Given the description of an element on the screen output the (x, y) to click on. 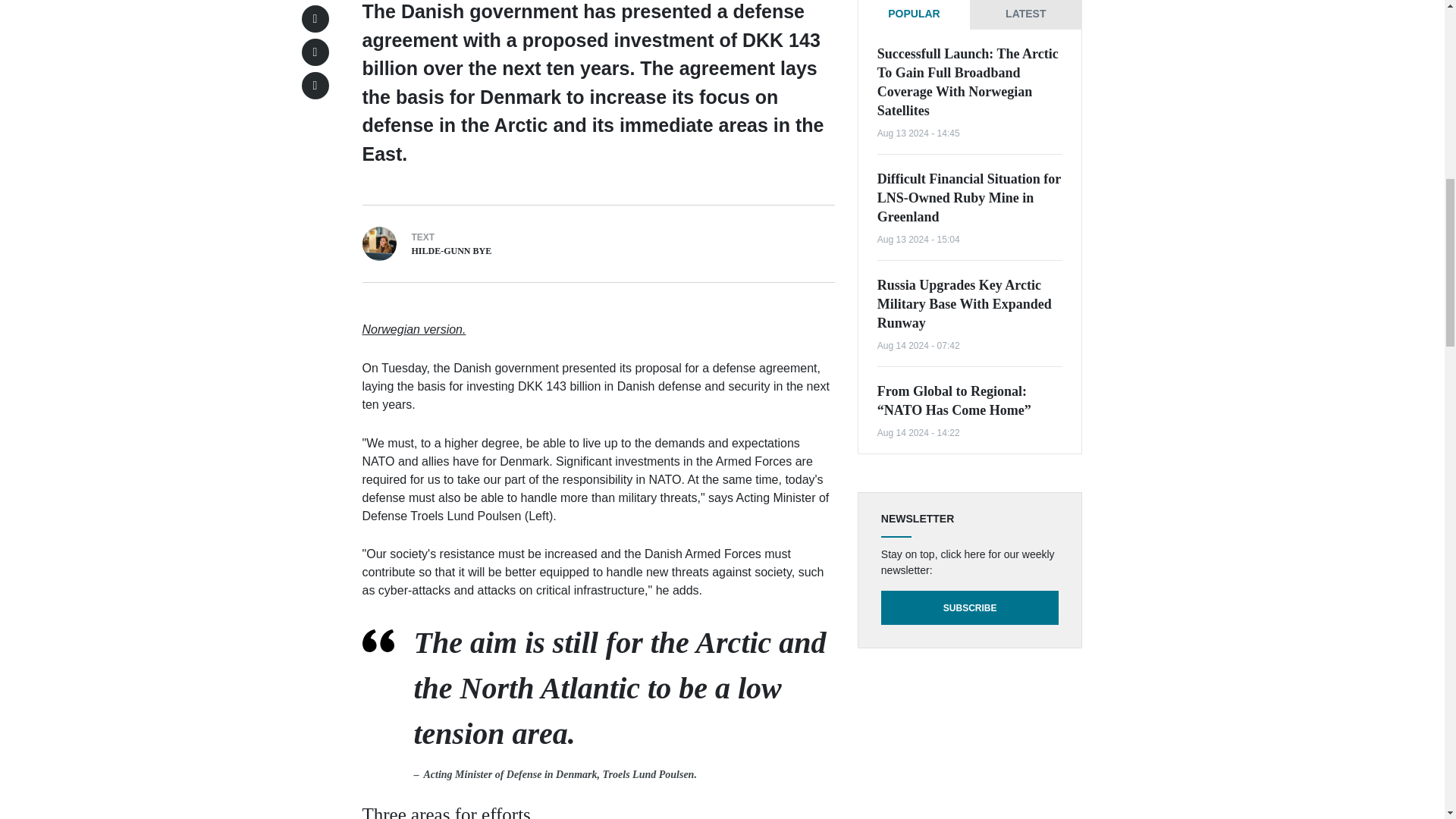
Share on Facebook (315, 52)
POPULAR (914, 14)
Send by email (315, 85)
HILDE-GUNN BYE (451, 250)
Norwegian version. (413, 328)
Share on Twitter (315, 18)
LATEST (1025, 14)
